Given the description of an element on the screen output the (x, y) to click on. 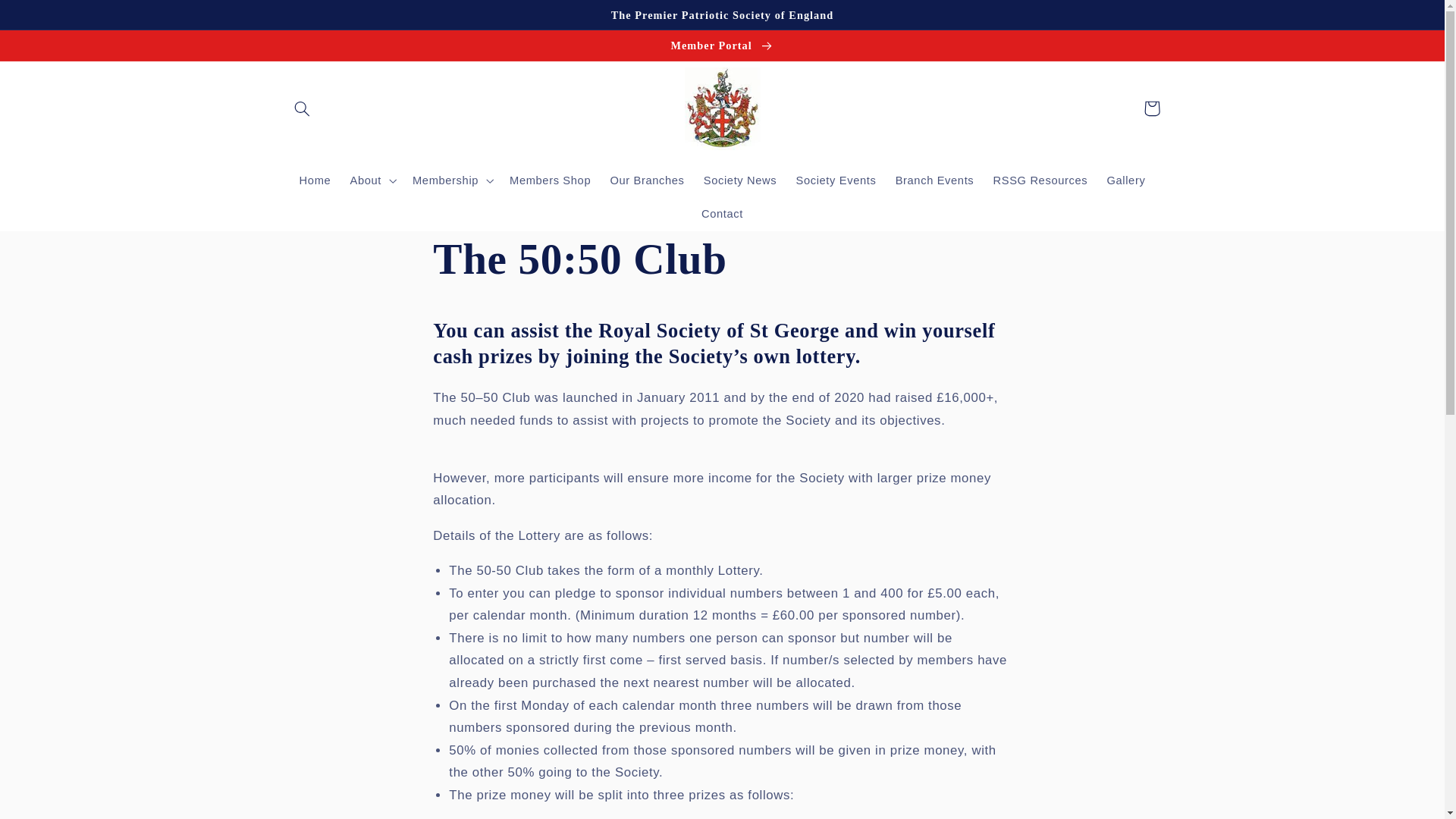
Skip to content (48, 18)
Home (314, 181)
